Given the description of an element on the screen output the (x, y) to click on. 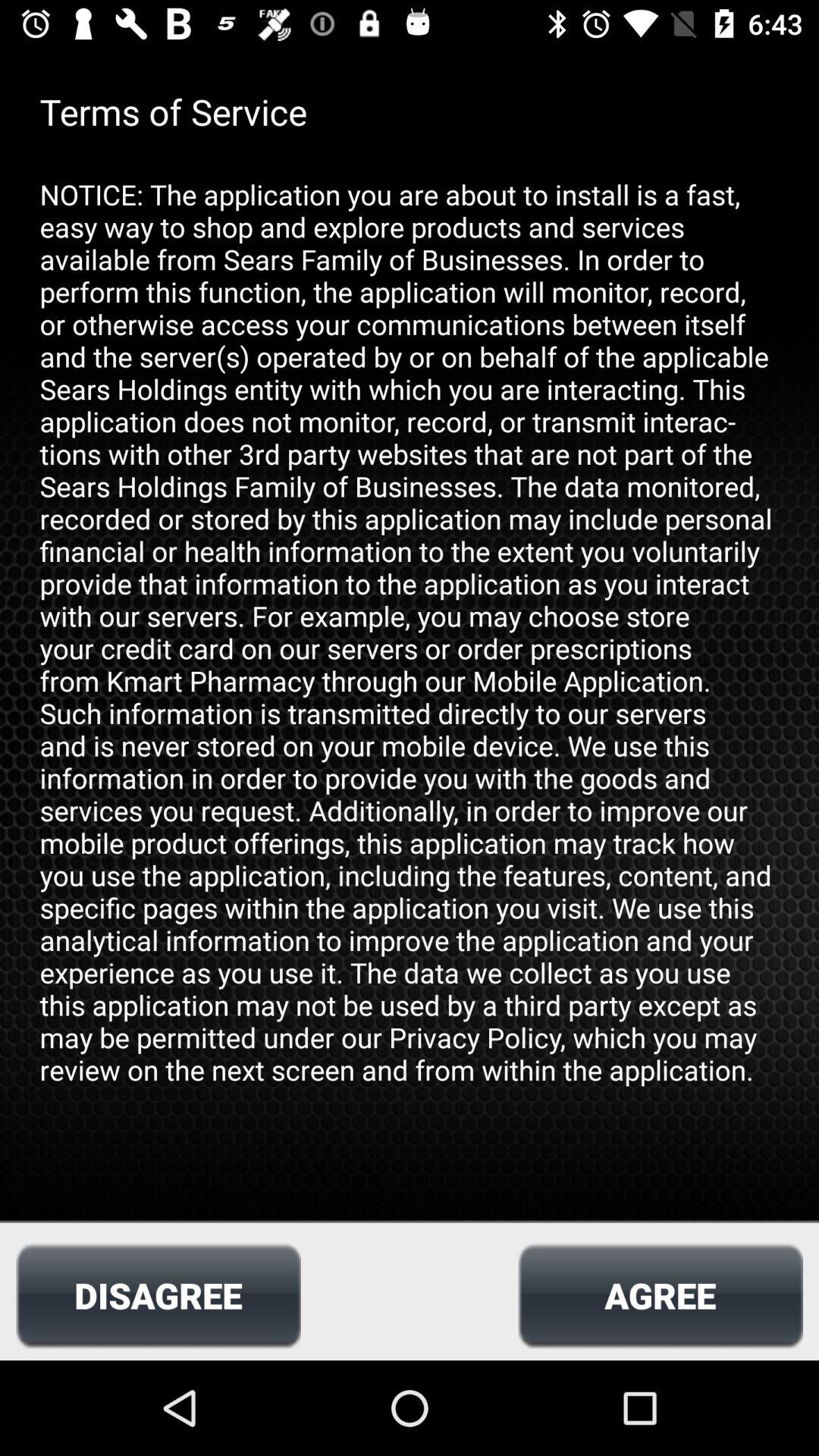
launch icon next to disagree (660, 1295)
